Given the description of an element on the screen output the (x, y) to click on. 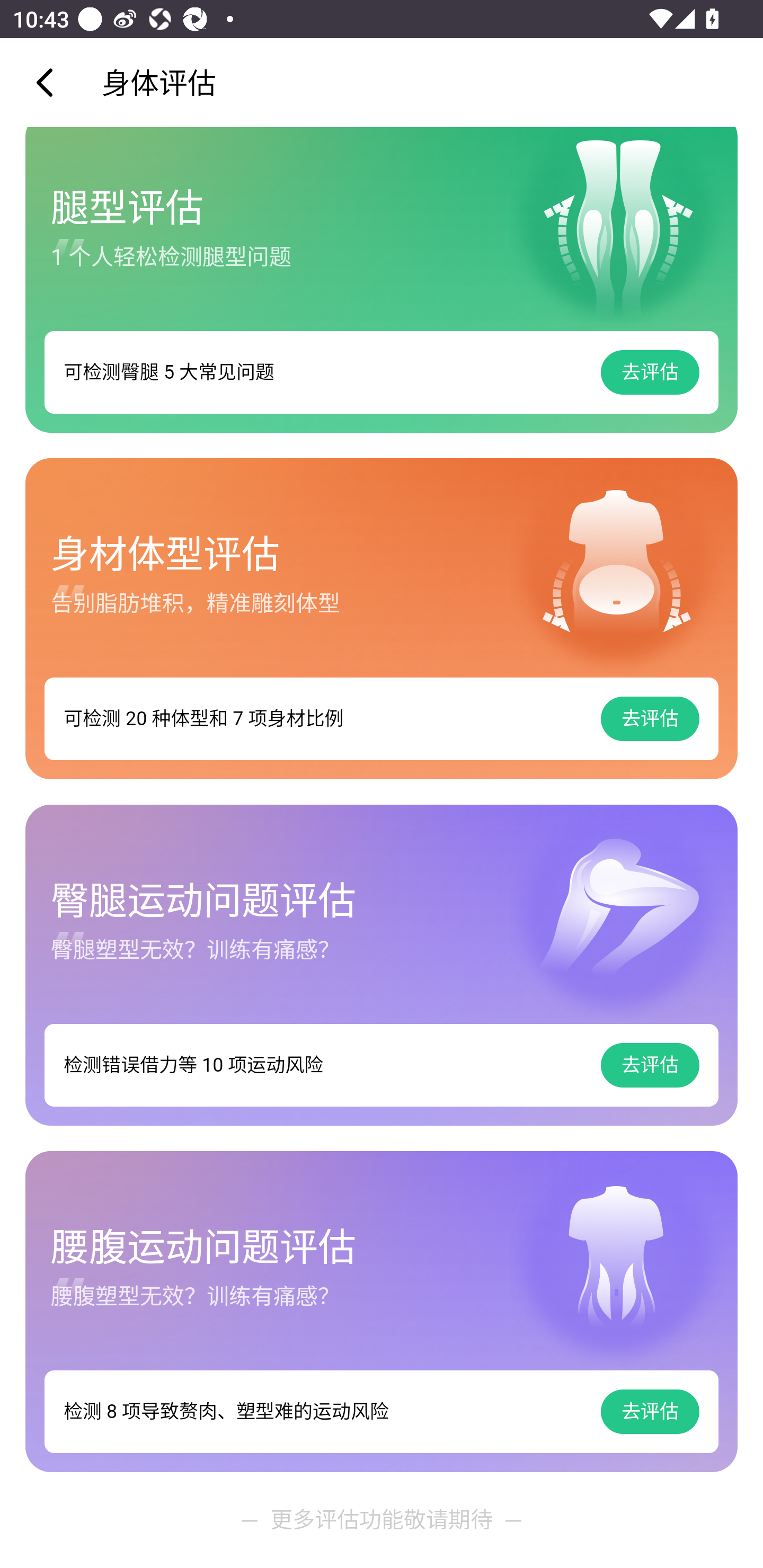
Left Button In Title Bar (50, 82)
1 (381, 280)
1 (381, 618)
1 (381, 965)
1 (381, 1311)
